Given the description of an element on the screen output the (x, y) to click on. 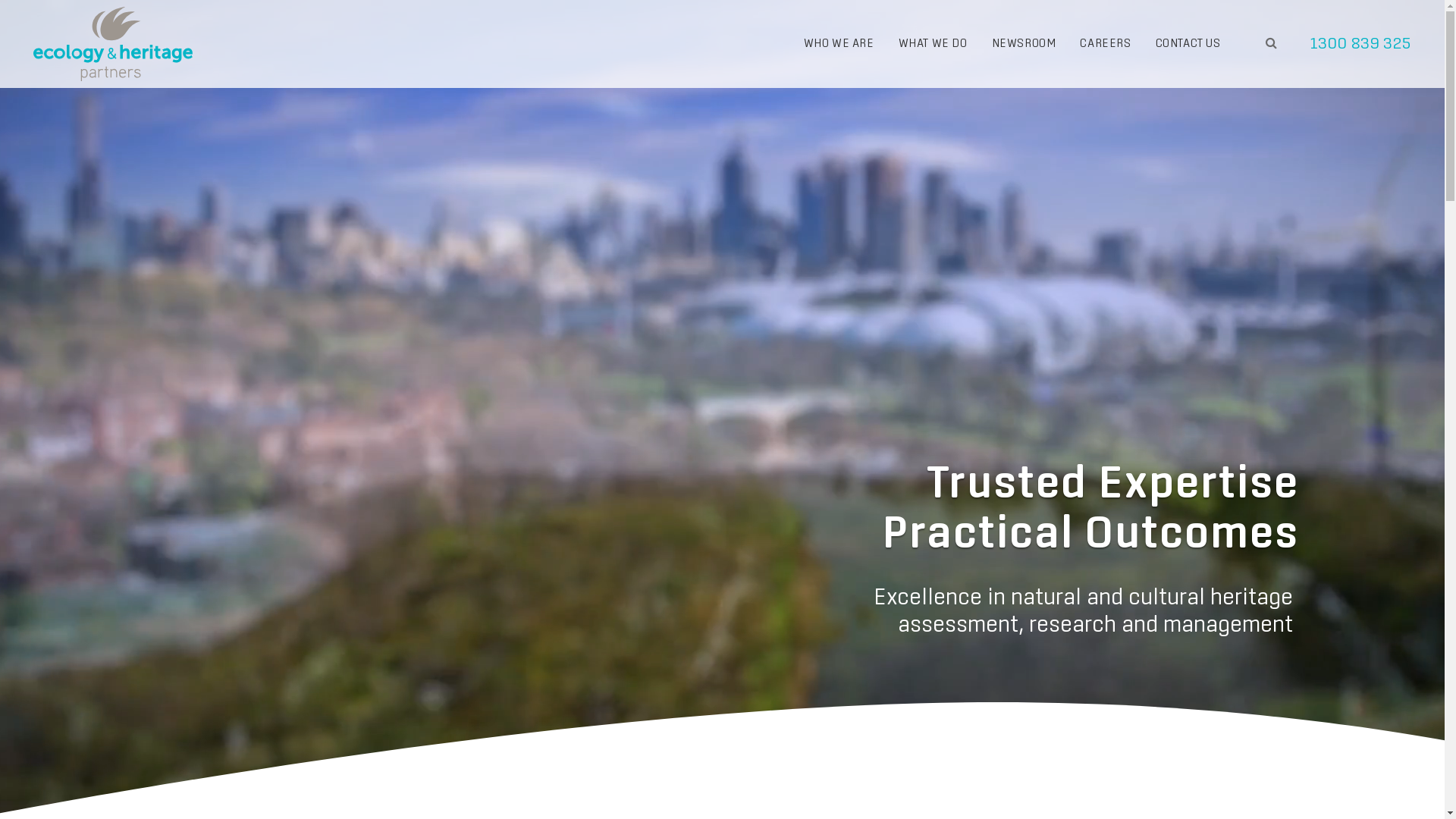
CONTACT US Element type: text (1188, 43)
go to home page Element type: hover (112, 43)
WHAT WE DO Element type: text (932, 43)
1300 839 325 Element type: text (1360, 43)
CAREERS Element type: text (1104, 43)
WHO WE ARE Element type: text (838, 43)
NEWSROOM Element type: text (1023, 43)
